Given the description of an element on the screen output the (x, y) to click on. 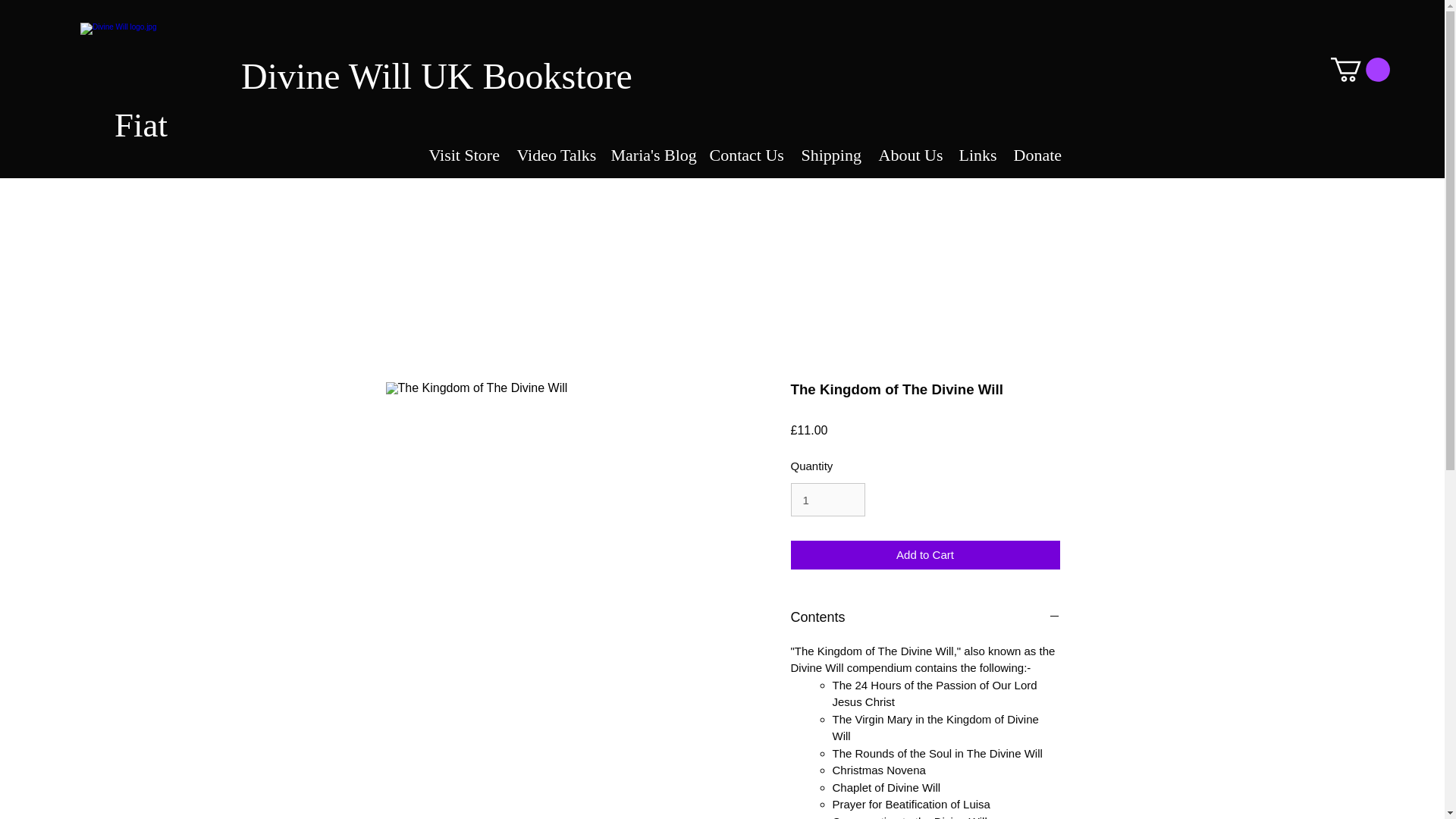
Divine Will UK Bookstore (436, 76)
Maria's Blog (648, 148)
Links (976, 148)
Shipping (830, 148)
Add to Cart (924, 555)
Contents (924, 617)
Donate (1037, 148)
About Us (909, 148)
1 (827, 499)
Contact Us (744, 148)
